Given the description of an element on the screen output the (x, y) to click on. 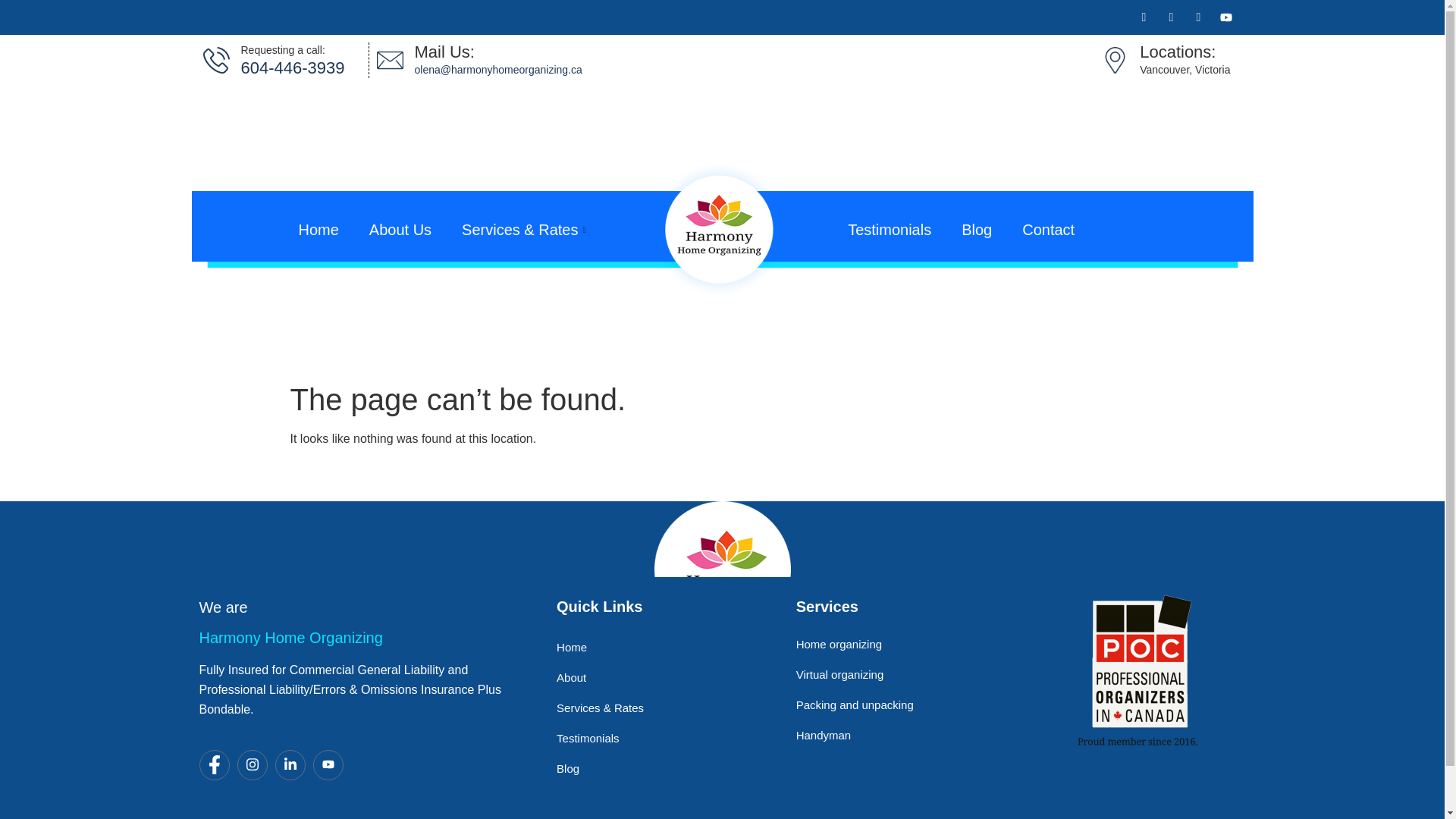
Home (317, 229)
604-446-3939 (293, 67)
Blog (976, 229)
Testimonials (889, 229)
Contact (1048, 229)
About Us (399, 229)
